Given the description of an element on the screen output the (x, y) to click on. 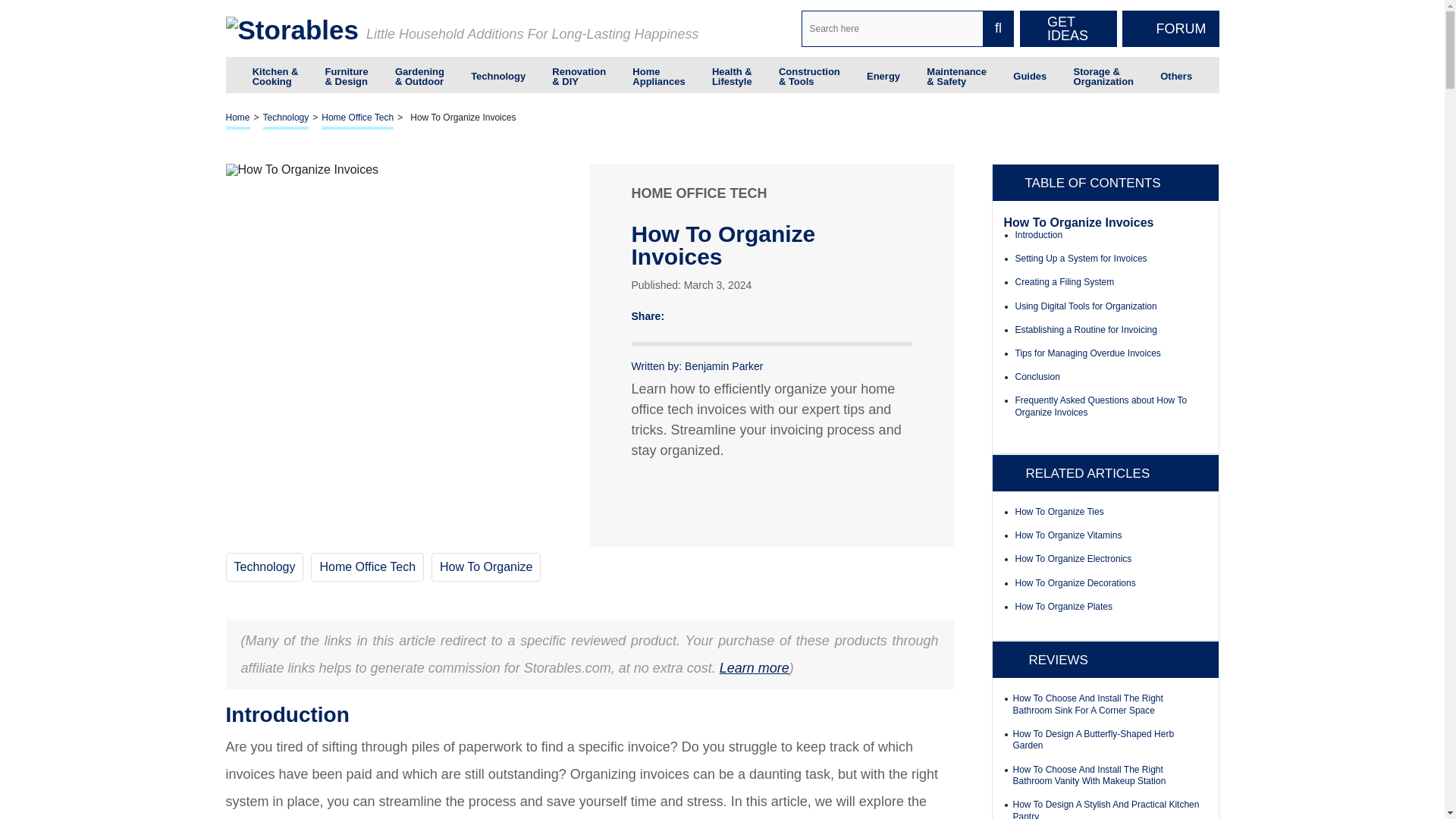
GET IDEAS (1067, 28)
FORUM (1171, 28)
Technology (497, 74)
